Given the description of an element on the screen output the (x, y) to click on. 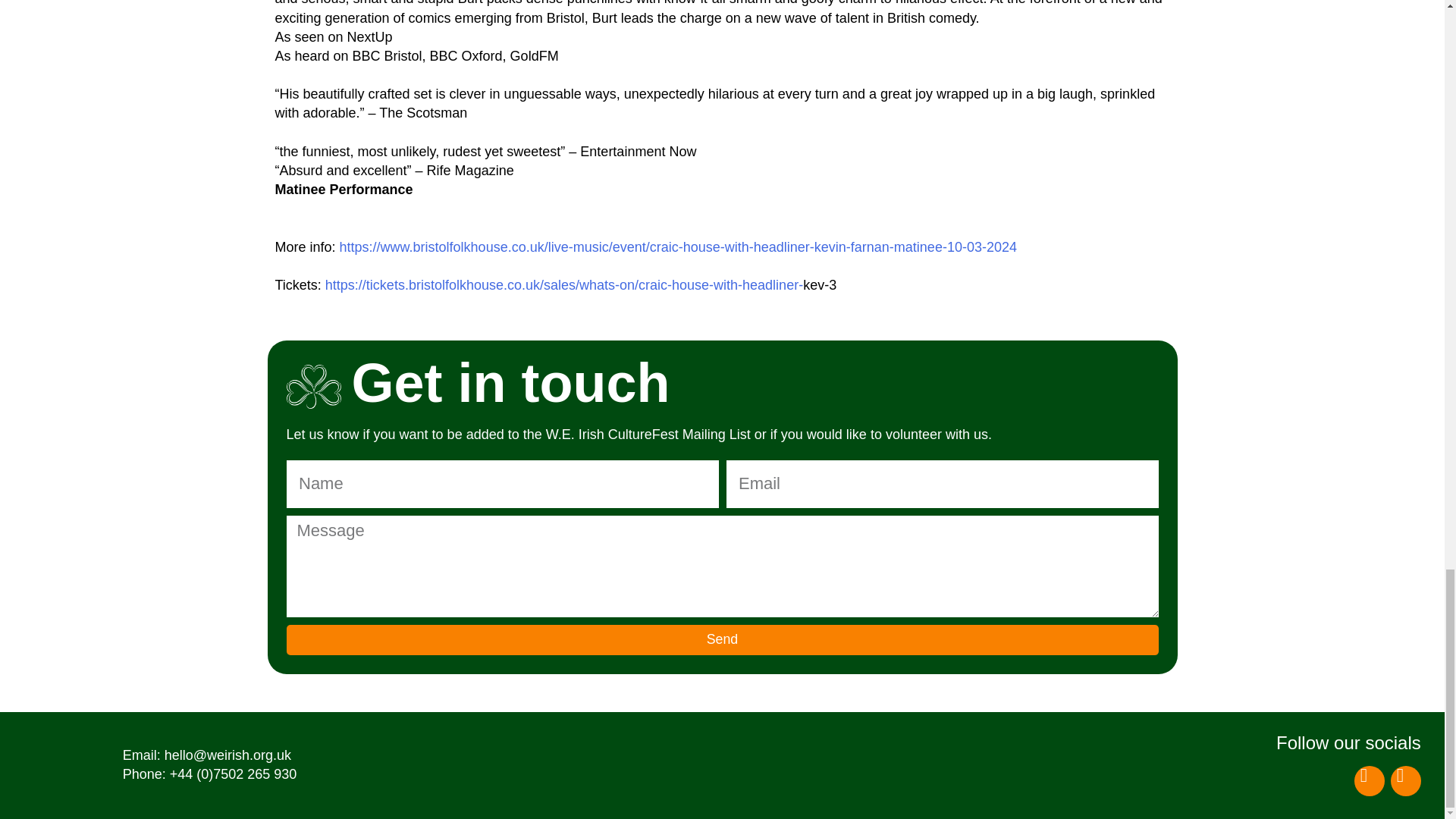
Send (722, 639)
Instagram (1405, 780)
Facebook (1369, 780)
